Given the description of an element on the screen output the (x, y) to click on. 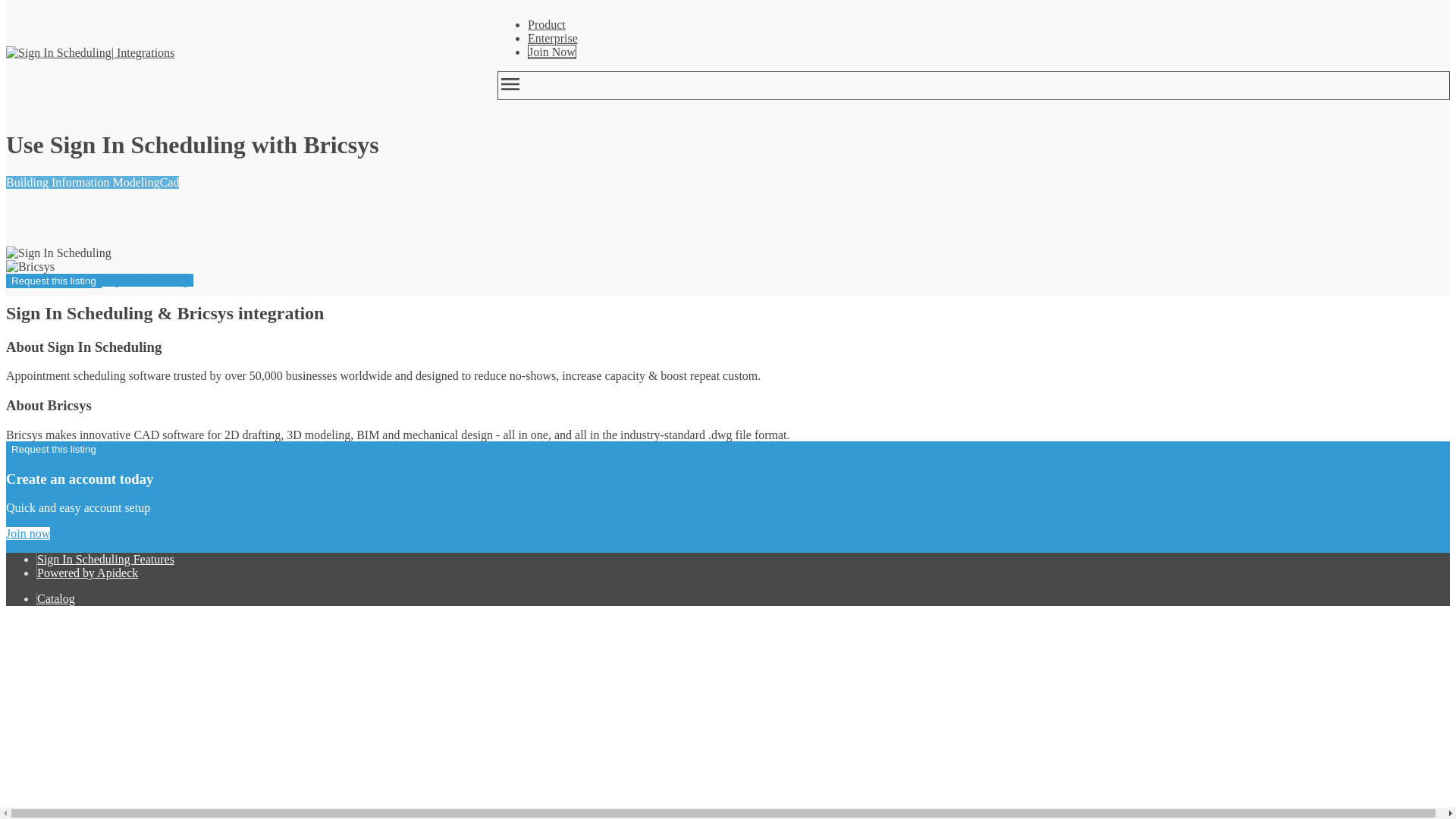
Enterprise (552, 38)
Join Now (551, 51)
Catalog (56, 598)
Request this listing (53, 280)
Sign In Scheduling Features (105, 558)
Bricsys (30, 266)
Powered by Apideck (87, 572)
Explore all listings (147, 448)
Request this listing (53, 449)
Join now (27, 533)
Sign In Scheduling (58, 52)
Sign In Scheduling (58, 253)
Explore all listings (147, 279)
Product (546, 24)
